Given the description of an element on the screen output the (x, y) to click on. 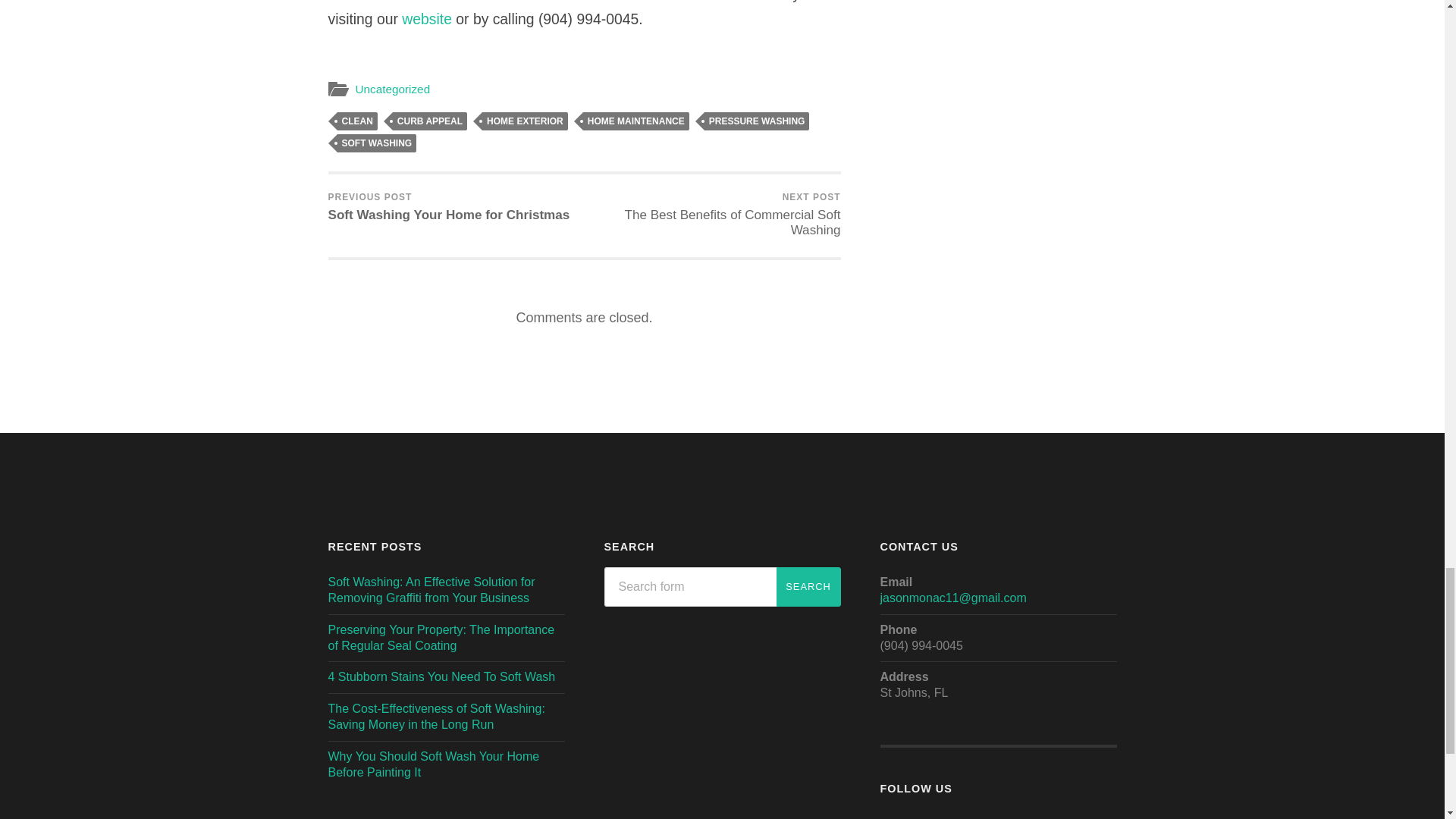
PRESSURE WASHING (756, 121)
Search (808, 586)
CURB APPEAL (430, 121)
HOME EXTERIOR (524, 121)
SOFT WASHING (376, 143)
4 Stubborn Stains You Need To Soft Wash (440, 676)
Next post: (714, 215)
Search (808, 586)
HOME MAINTENANCE (635, 121)
